Given the description of an element on the screen output the (x, y) to click on. 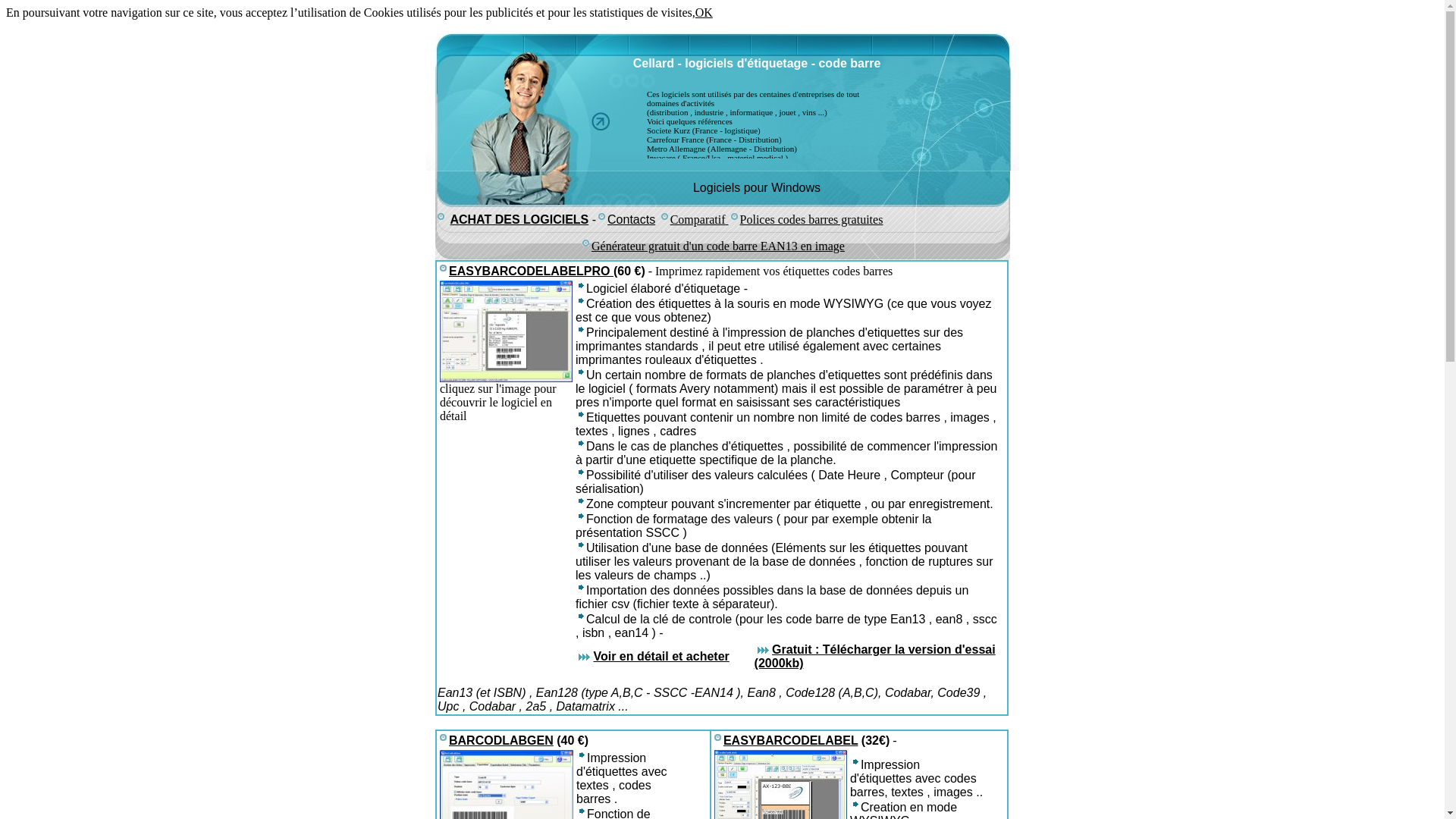
Polices codes barres gratuites Element type: text (811, 218)
Contacts Element type: text (625, 218)
EASYBARCODELABELPRO Element type: text (530, 270)
BARCODLABGEN Element type: text (500, 740)
ACHAT DES LOGICIELS Element type: text (518, 218)
Comparatif Element type: text (697, 218)
OK Element type: text (703, 12)
EASYBARCODELABEL Element type: text (790, 740)
